Given the description of an element on the screen output the (x, y) to click on. 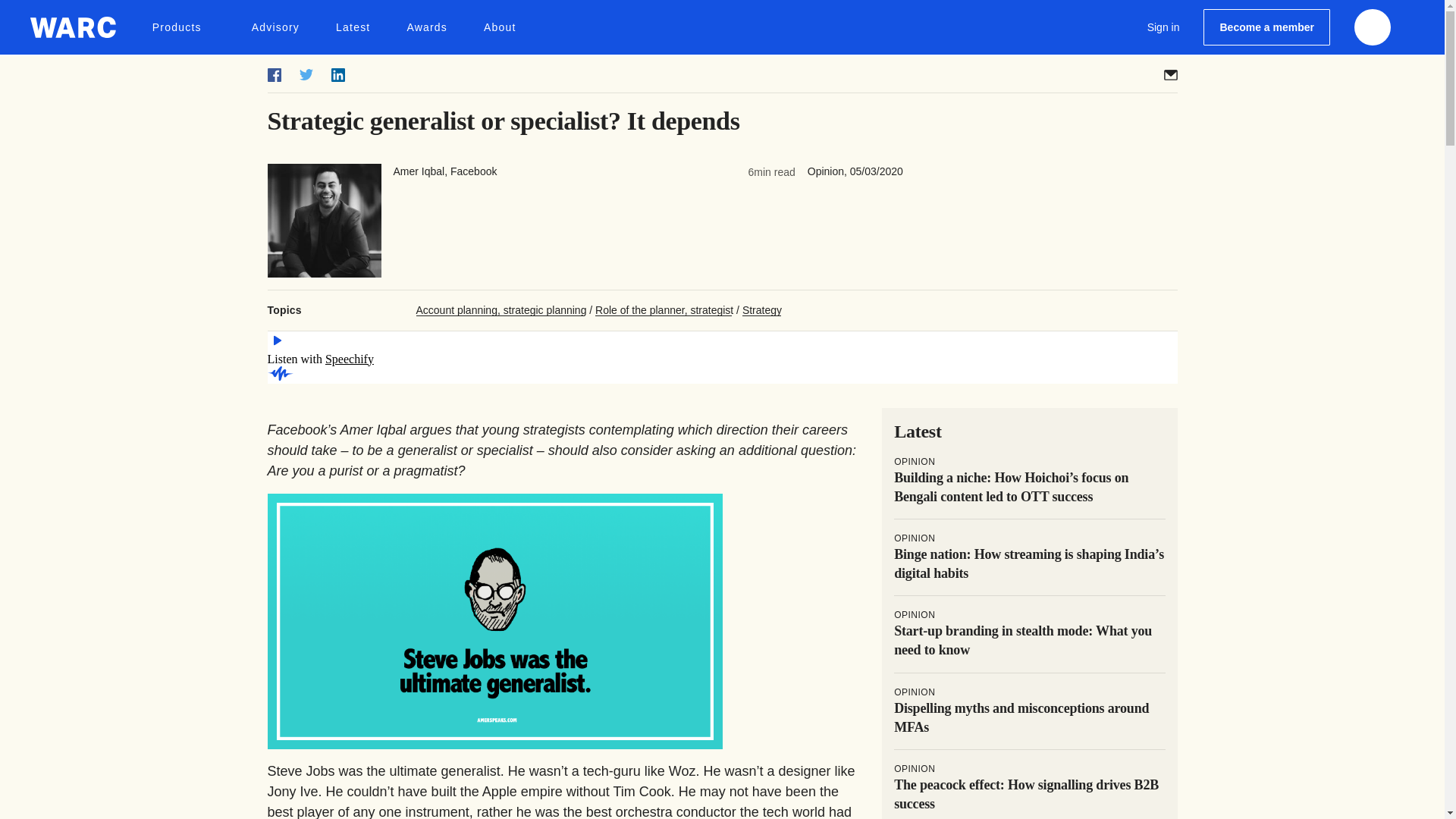
Awards (426, 27)
Latest (352, 27)
WARC (73, 26)
Become a member (1267, 27)
WARC (73, 26)
Advisory (275, 27)
Sign in (1163, 27)
Products (183, 27)
About (499, 27)
